Given the description of an element on the screen output the (x, y) to click on. 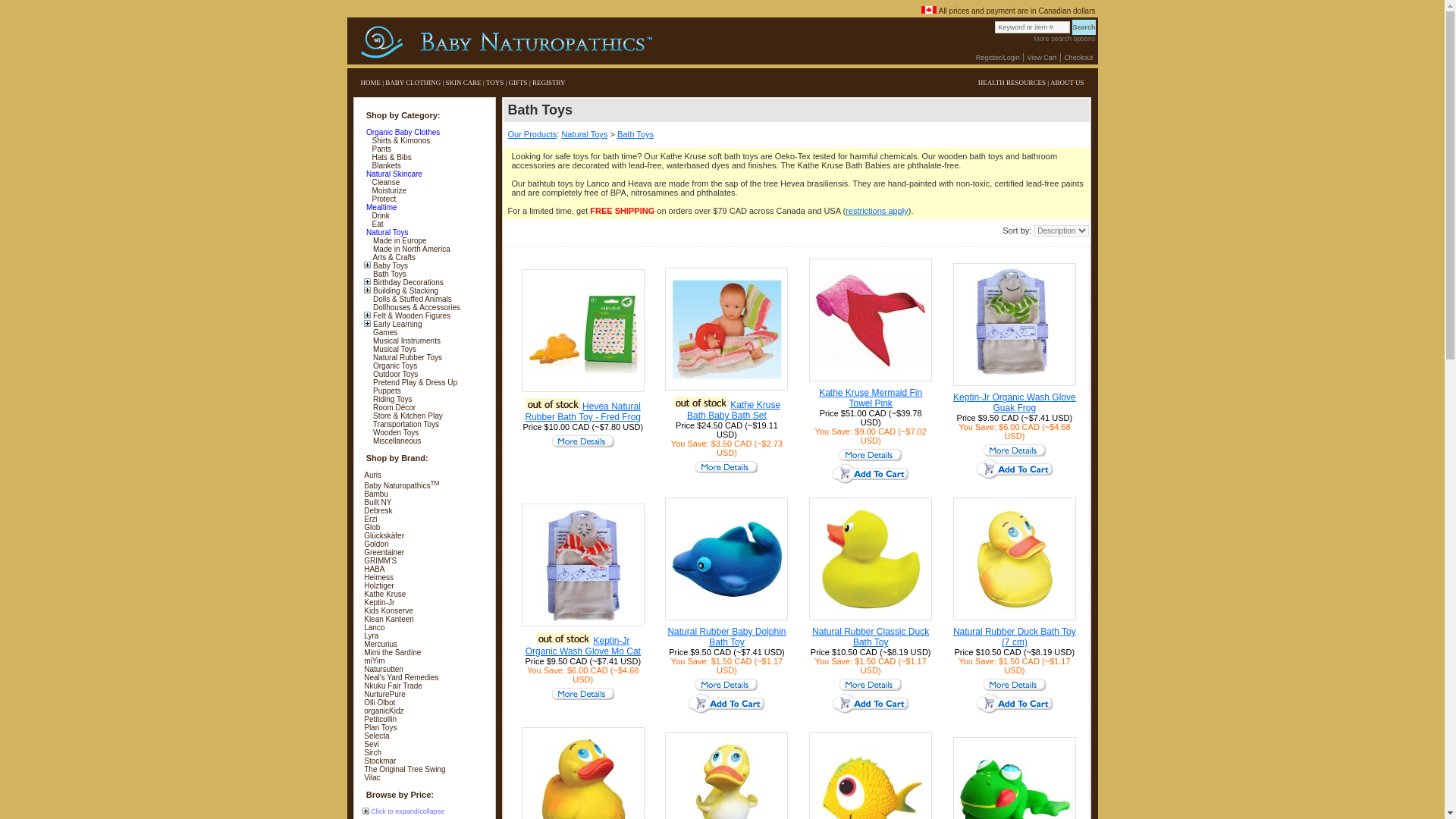
 Pants (380, 148)
HOME (371, 82)
 Natural Toys (385, 232)
 Organic Baby Clothes (401, 131)
 Baby Toys (389, 265)
 Eat (376, 224)
Shop by Category: (427, 114)
 Drink (379, 215)
HEALTH RESOURCES (1011, 82)
 Made in Europe (398, 240)
 Protect (382, 198)
SKIN CARE (463, 82)
 Made in North America (410, 248)
 Moisturize (387, 190)
Checkout (1078, 57)
